Given the description of an element on the screen output the (x, y) to click on. 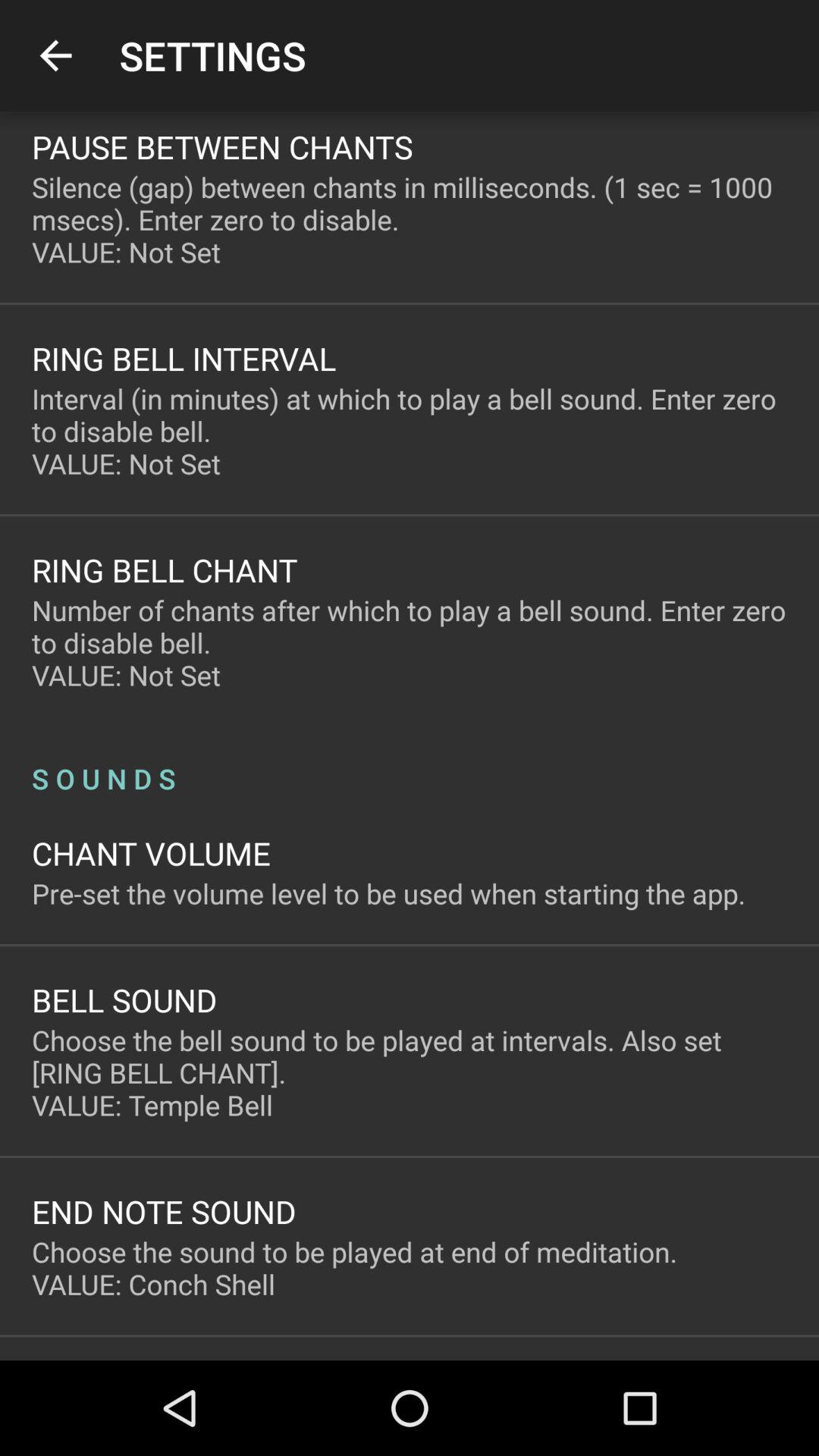
click icon above the pause between chants item (55, 55)
